Given the description of an element on the screen output the (x, y) to click on. 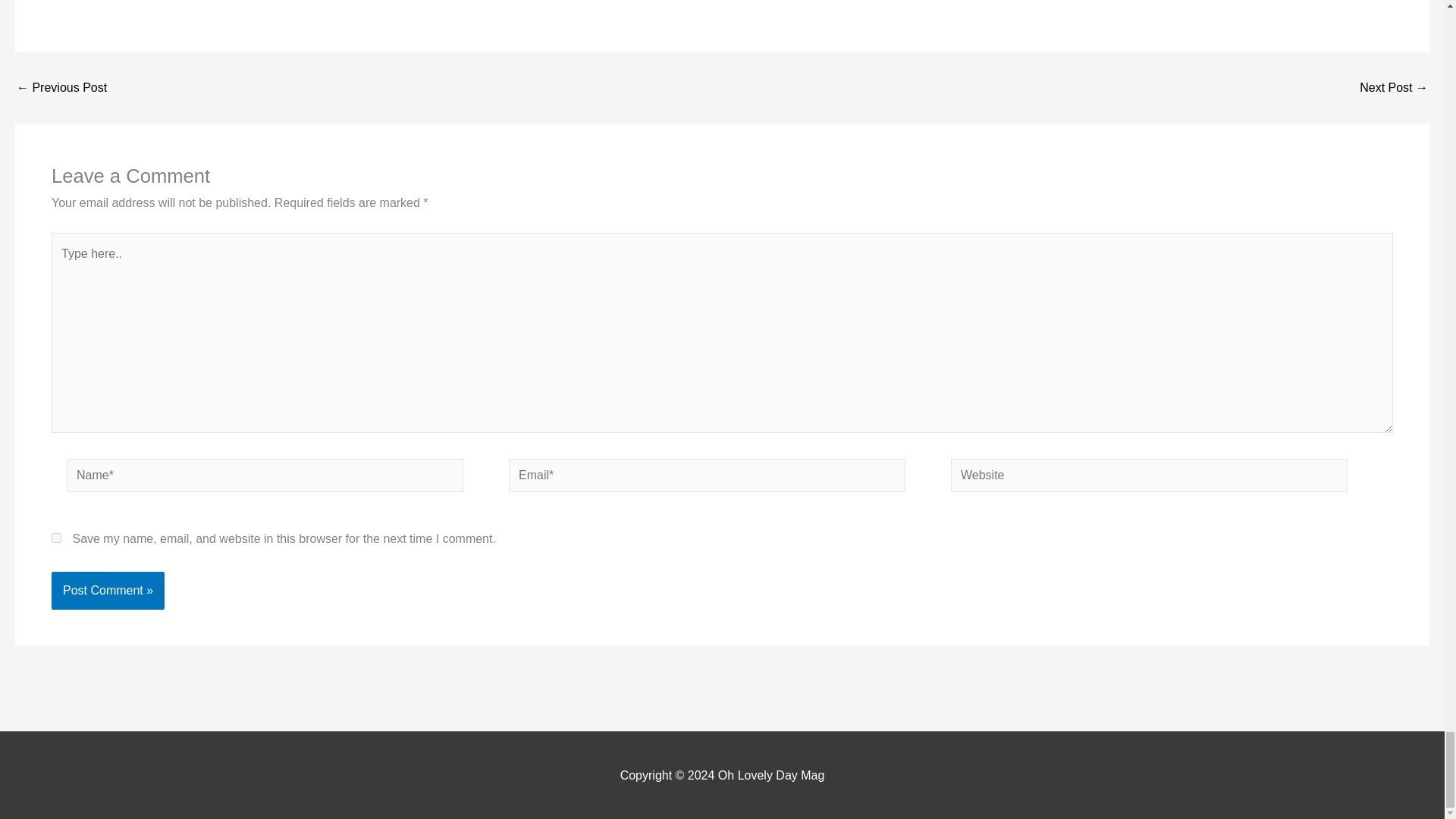
yes (55, 537)
43rd Year Anniversary Gifts (61, 87)
10th Year Anniversary Gifts (1393, 87)
